Given the description of an element on the screen output the (x, y) to click on. 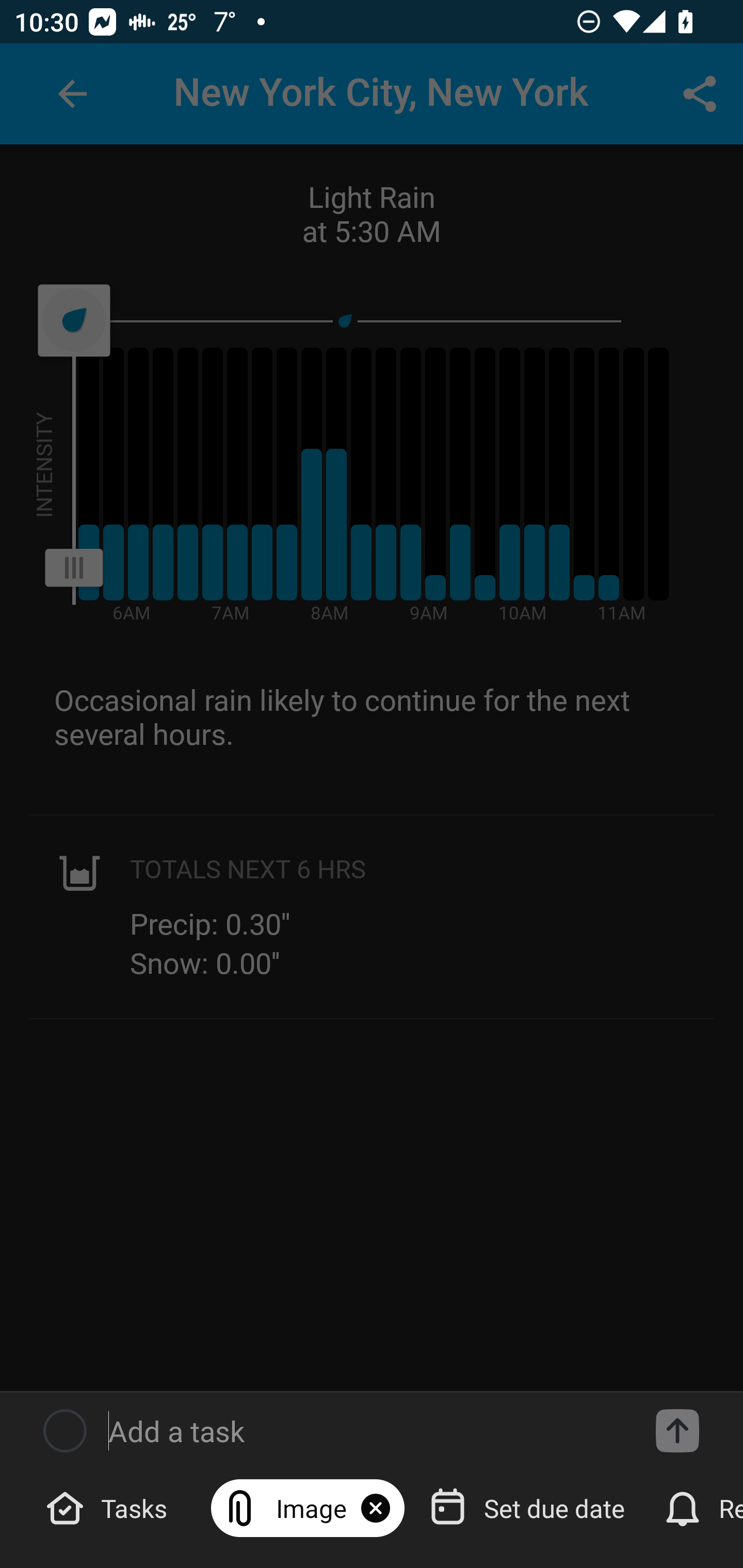
Add a task (676, 1430)
Add a task (366, 1430)
Tasks (108, 1507)
Image (307, 1507)
Set due date (528, 1507)
